Given the description of an element on the screen output the (x, y) to click on. 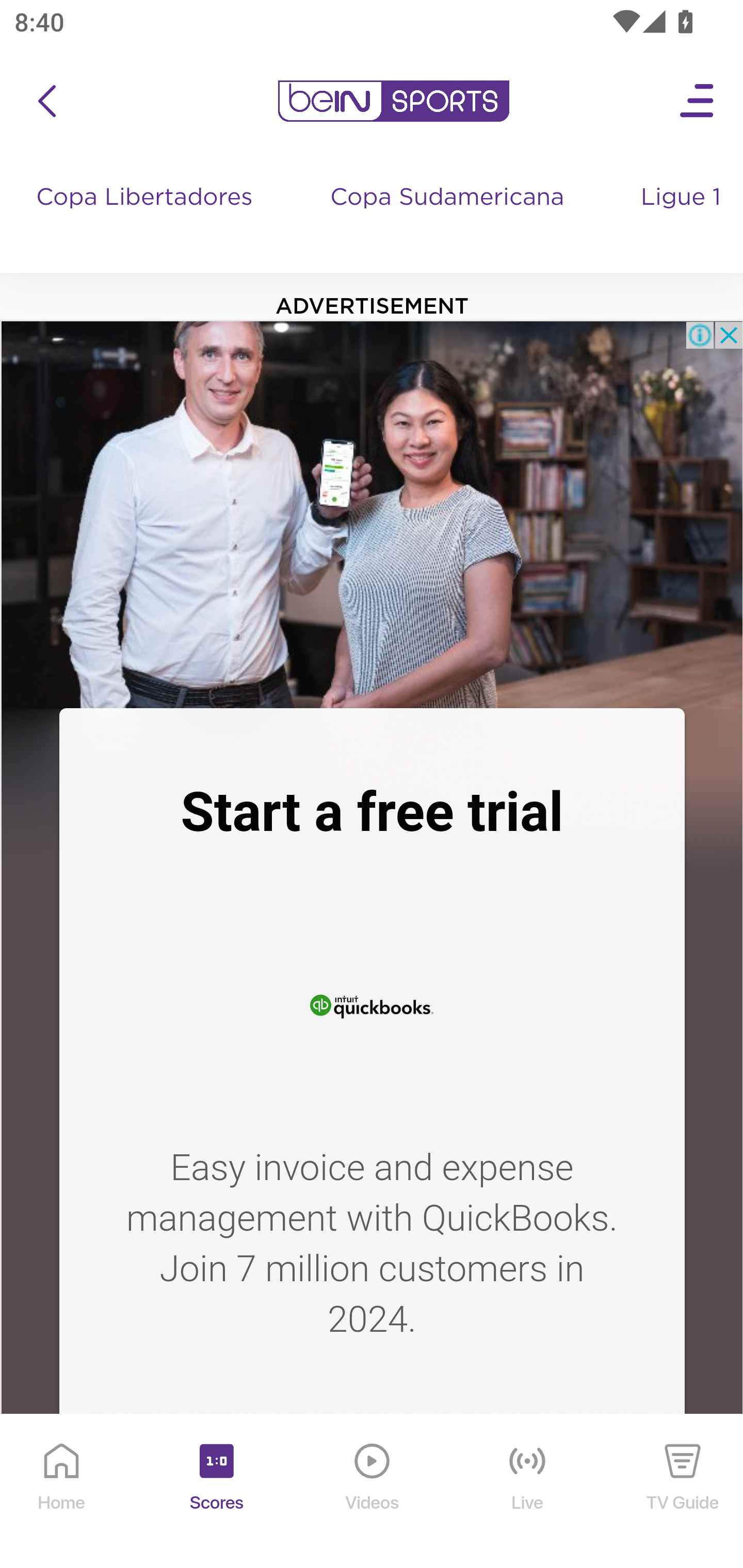
en-us?platform=mobile_android bein logo (392, 101)
icon back (46, 101)
Open Menu Icon (697, 101)
Copa Libertadores (146, 216)
Copa Sudamericana (448, 216)
Ligue 1 (682, 216)
%3Fcid%3Dppc_ROW_%7Bdscampaign%7D%26gclsrc%3Daw (371, 513)
Start a free trial (371, 812)
%3Fcid%3Dppc_ROW_%7Bdscampaign%7D%26gclsrc%3Daw (371, 1002)
%3Fcid%3Dppc_ROW_%7Bdscampaign%7D%26gclsrc%3Daw (371, 1480)
Home Home Icon Home (61, 1491)
Scores Scores Icon Scores (216, 1491)
TV Guide TV Guide Icon TV Guide (682, 1491)
